Given the description of an element on the screen output the (x, y) to click on. 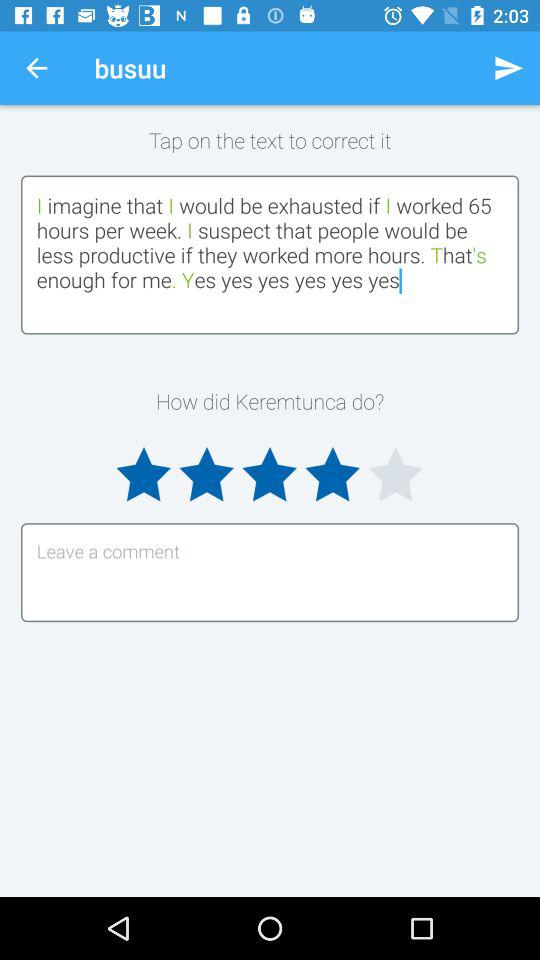
choose the icon to the right of busuu item (508, 67)
